Given the description of an element on the screen output the (x, y) to click on. 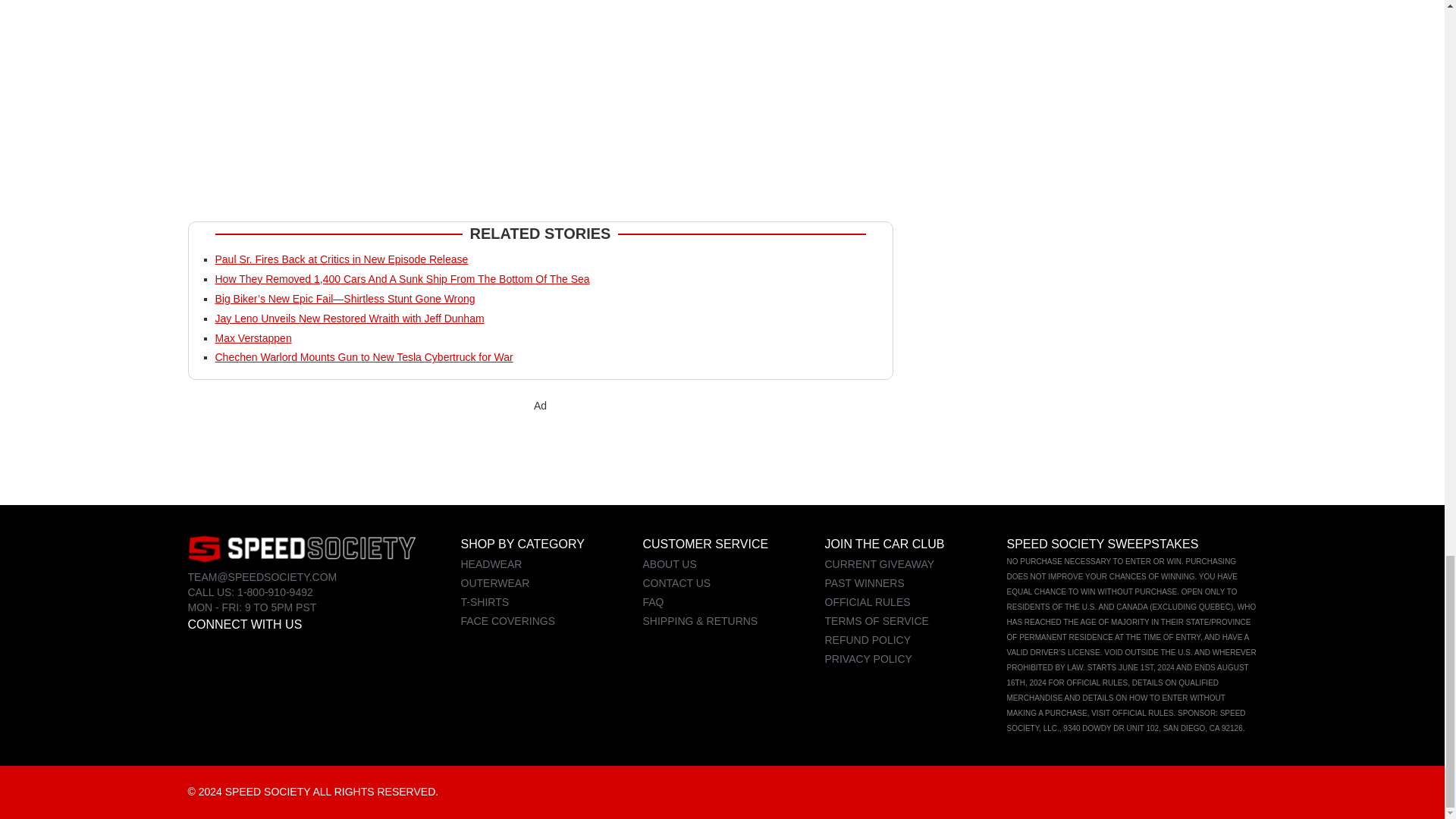
footer logo (300, 548)
Paul Sr. Fires Back at Critics in New Episode Release (341, 259)
